Given the description of an element on the screen output the (x, y) to click on. 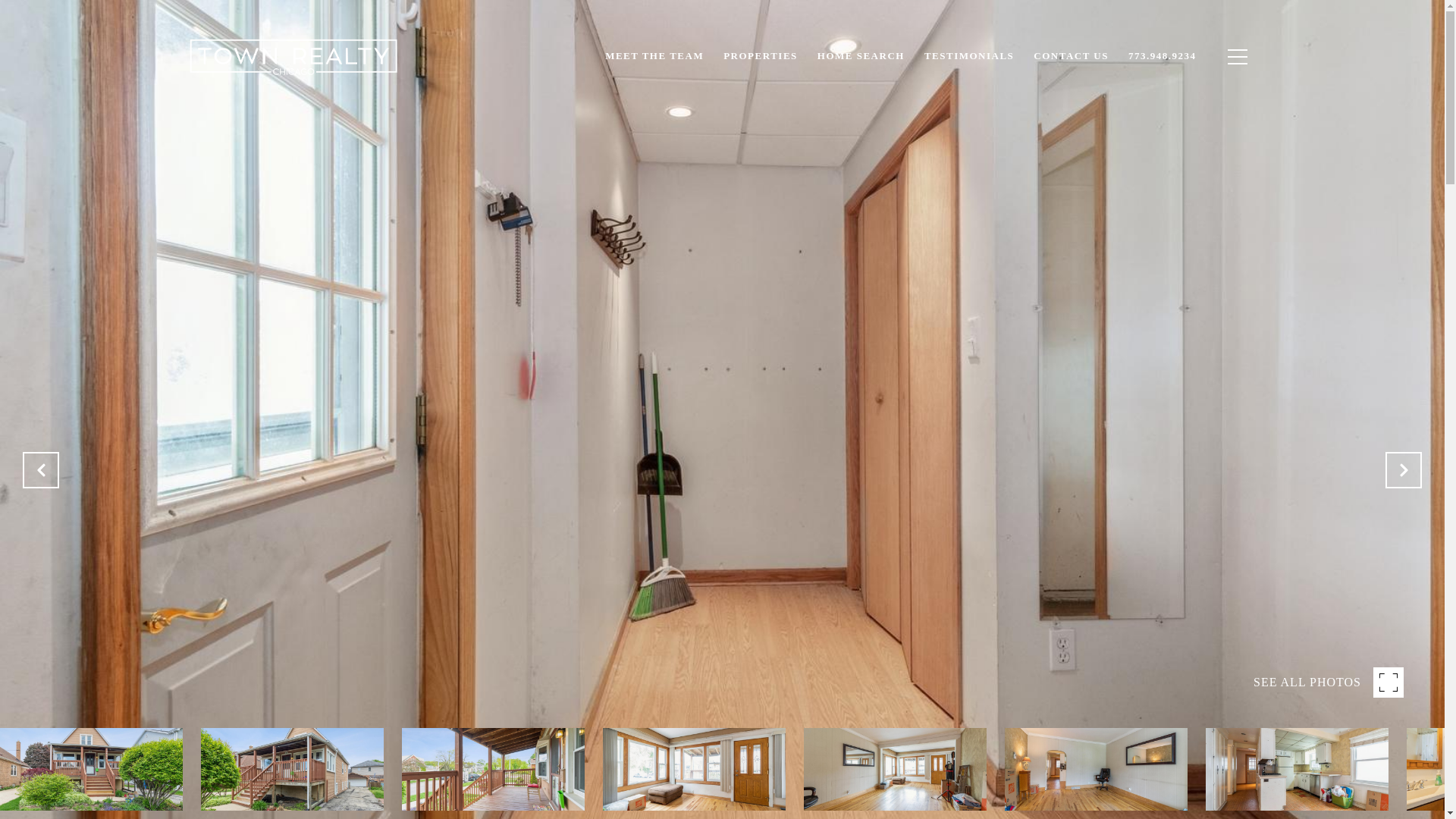
MEET THE TEAM (654, 55)
773.948.9234 (1162, 55)
TESTIMONIALS (968, 55)
HOME SEARCH (861, 55)
CONTACT US (1070, 55)
PROPERTIES (760, 55)
